Given the description of an element on the screen output the (x, y) to click on. 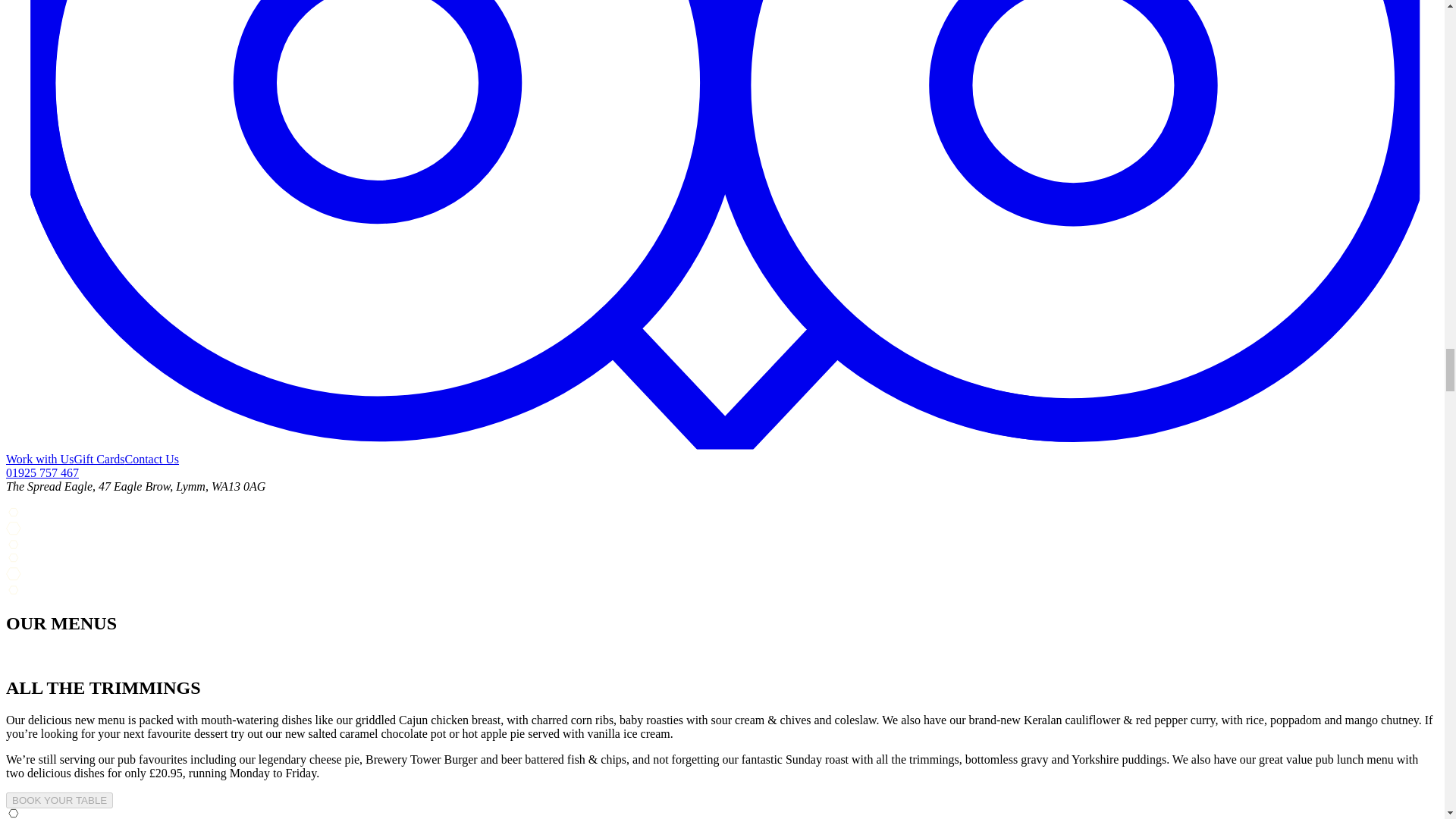
Gift Cards (98, 459)
BOOK YOUR TABLE (59, 800)
Contact Us (151, 459)
01925 757 467 (41, 472)
Work with Us (39, 459)
